Given the description of an element on the screen output the (x, y) to click on. 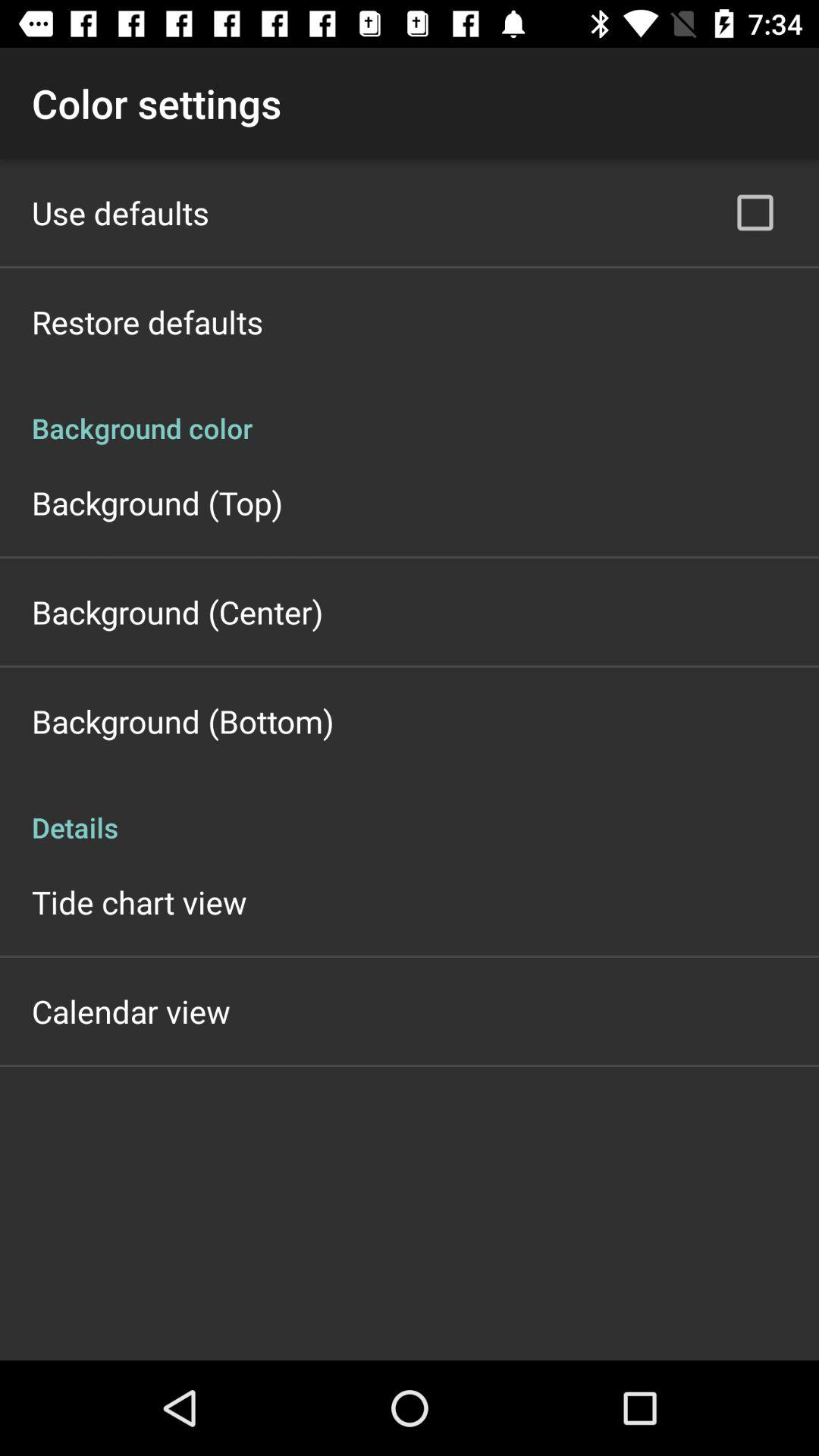
choose checkbox at the top right corner (755, 212)
